Given the description of an element on the screen output the (x, y) to click on. 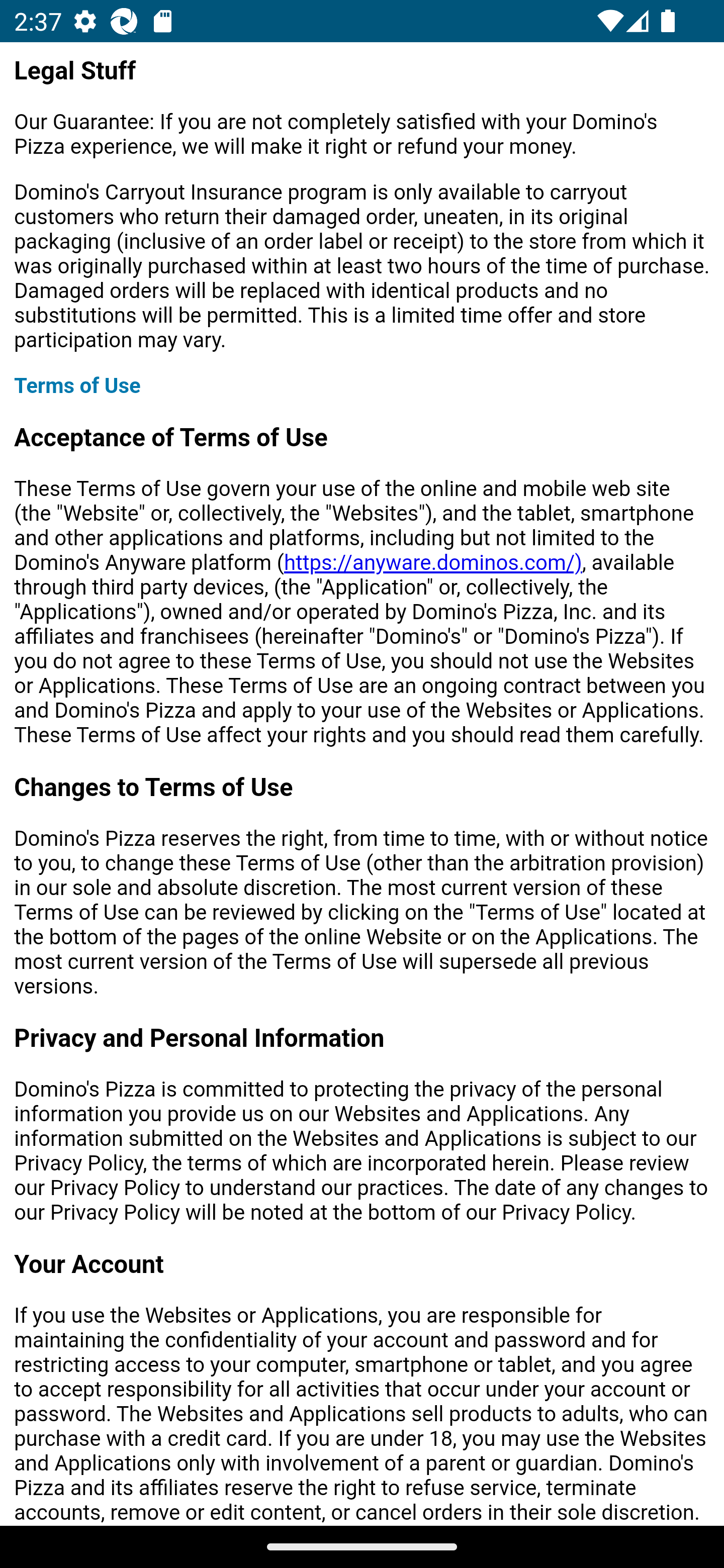
https://anyware.dominos.com/) (432, 563)
